Given the description of an element on the screen output the (x, y) to click on. 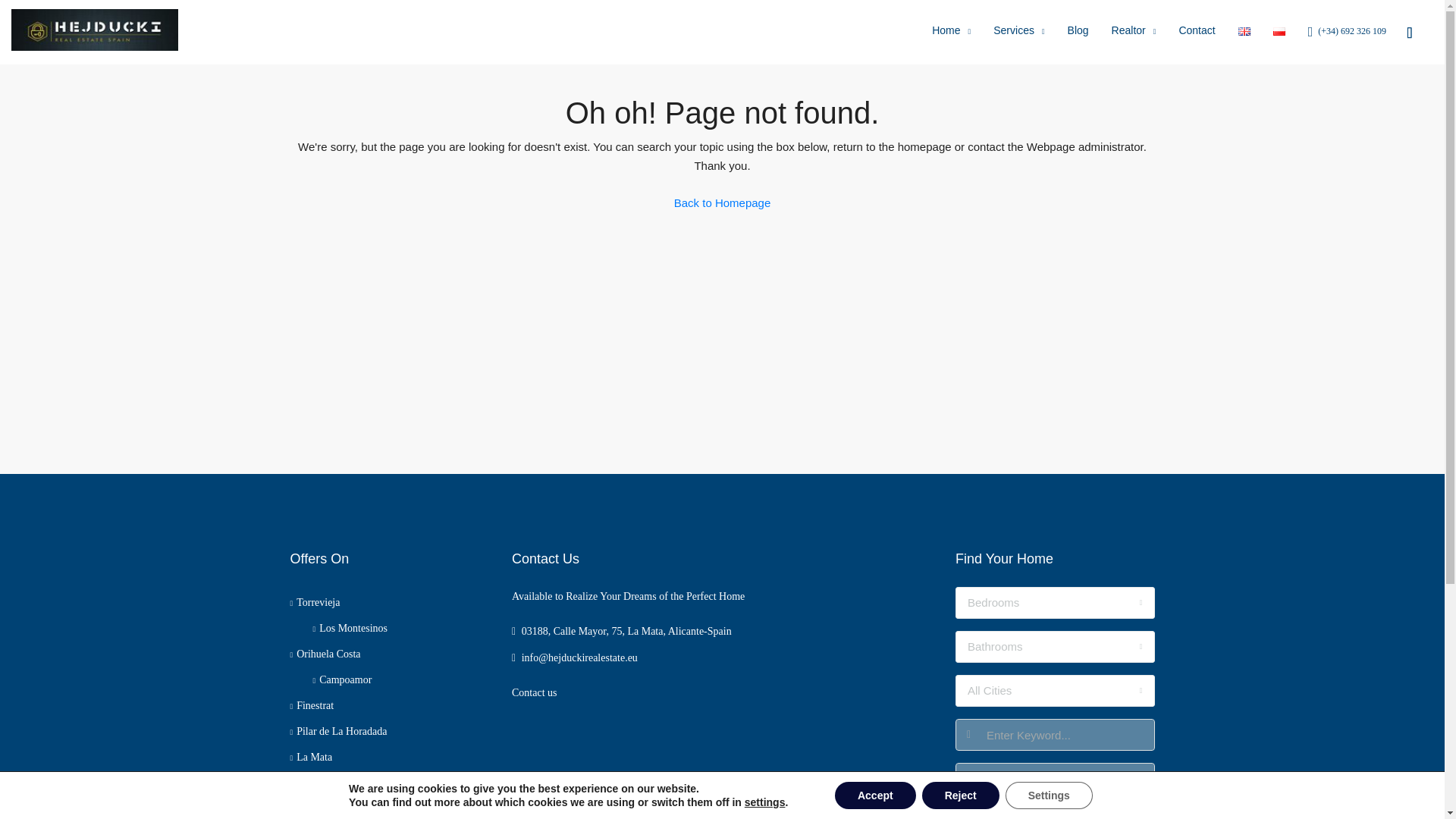
Home (950, 33)
Bedrooms (1054, 603)
Bathrooms (1054, 646)
Realtor (1133, 33)
Contact (1196, 32)
All Cities (1054, 690)
Services (1018, 33)
